Given the description of an element on the screen output the (x, y) to click on. 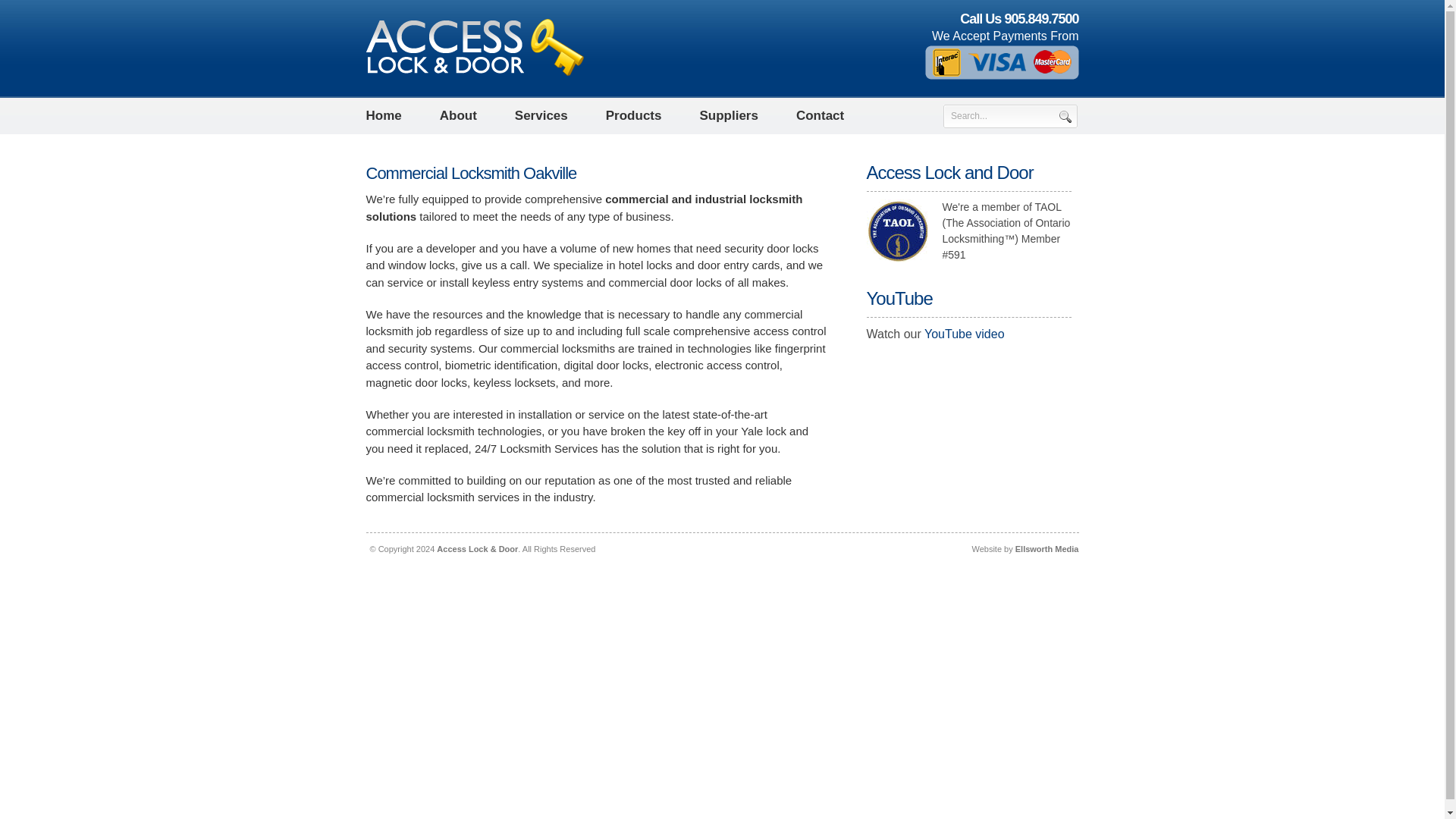
Contact (820, 115)
Suppliers (727, 115)
Products (633, 115)
YouTube video (964, 333)
Go (1065, 115)
Services (541, 115)
About (458, 115)
Permanent Link to Commercial Locksmith Oakville (470, 172)
Ellsworth Media (1046, 548)
Commercial Locksmith Oakville (470, 172)
